Given the description of an element on the screen output the (x, y) to click on. 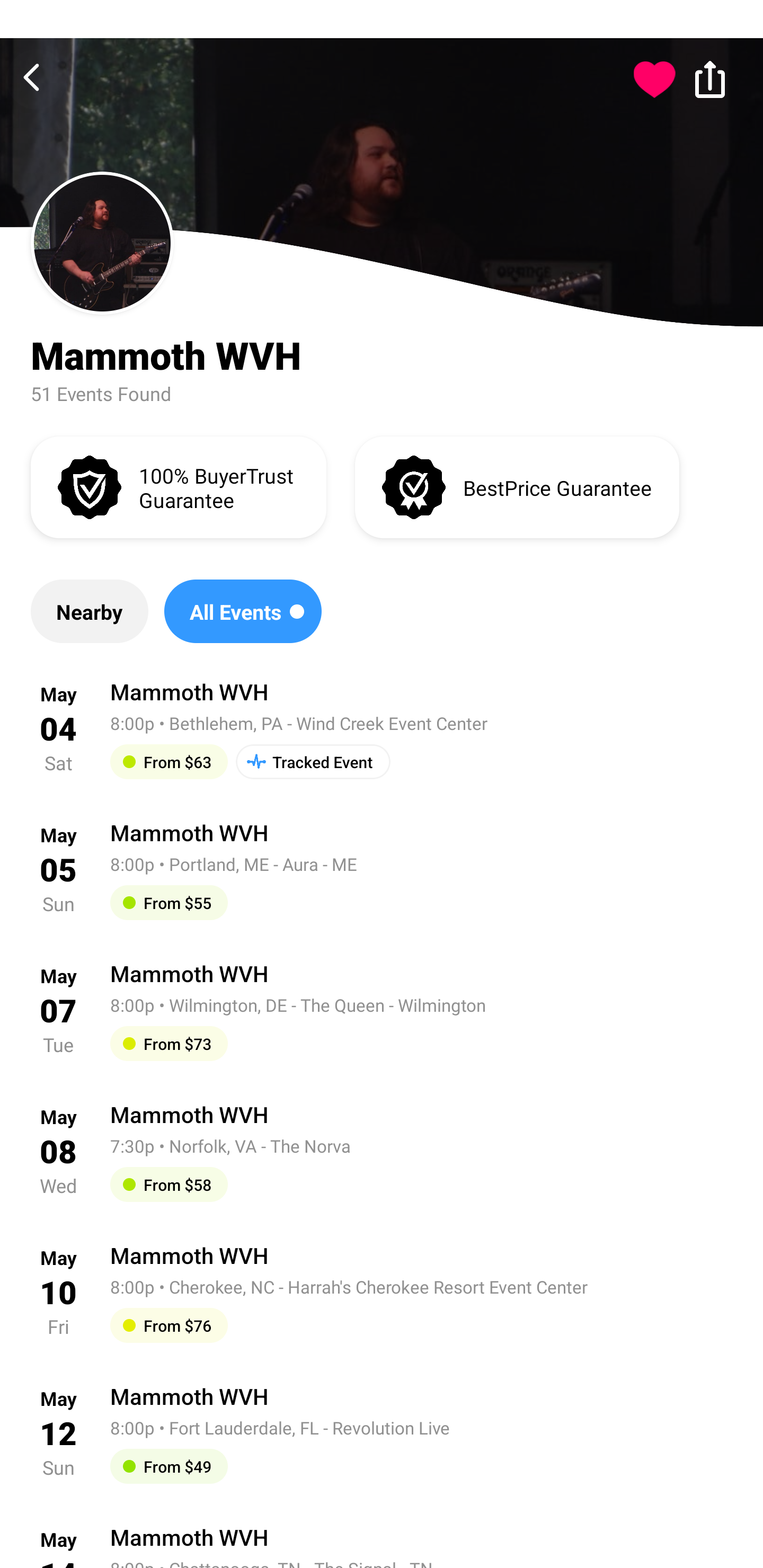
100% BuyerTrust Guarantee (178, 486)
BestPrice Guarantee (516, 486)
Nearby (89, 611)
All Events (242, 611)
